Given the description of an element on the screen output the (x, y) to click on. 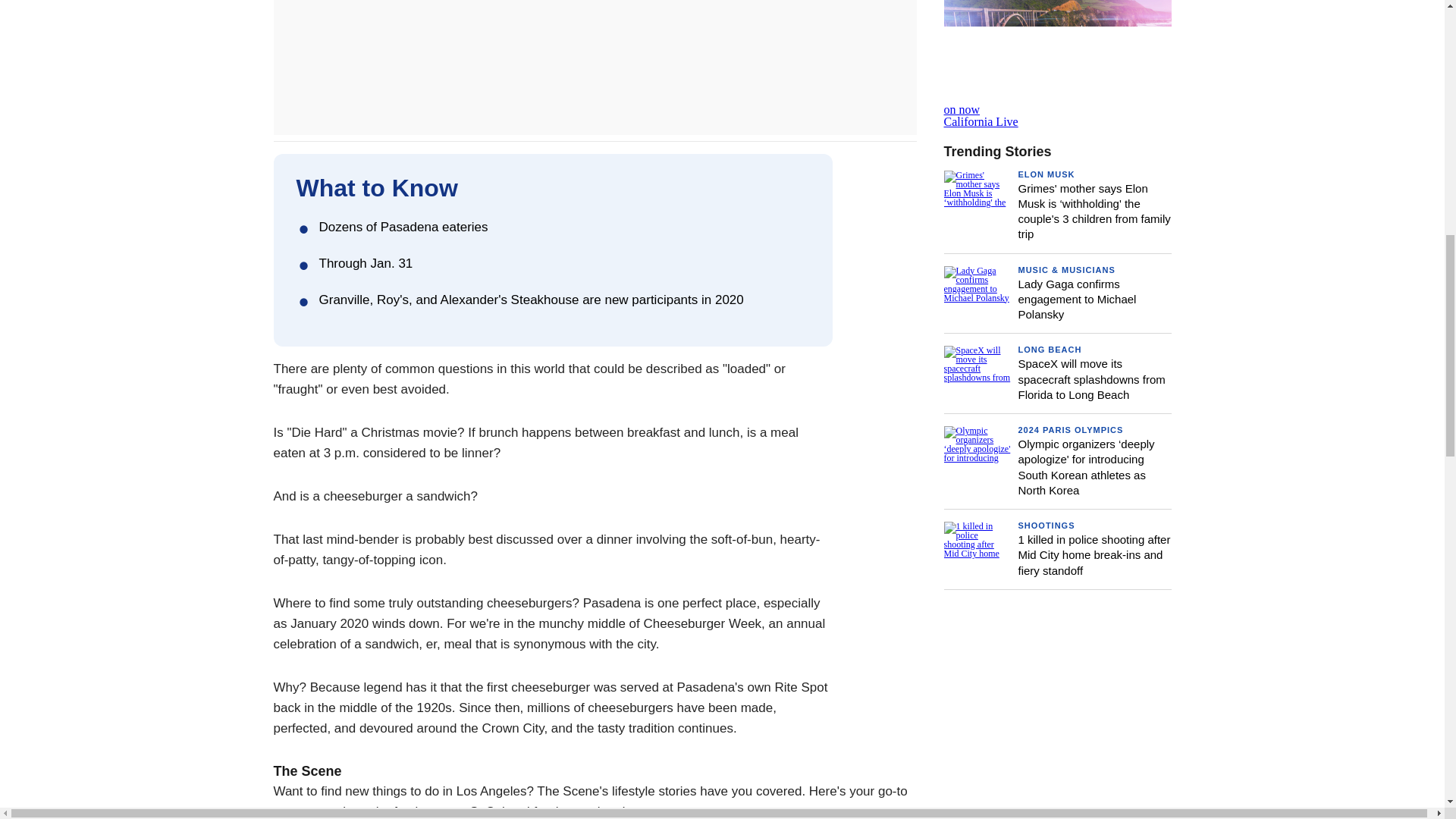
ELON MUSK (1056, 63)
